Given the description of an element on the screen output the (x, y) to click on. 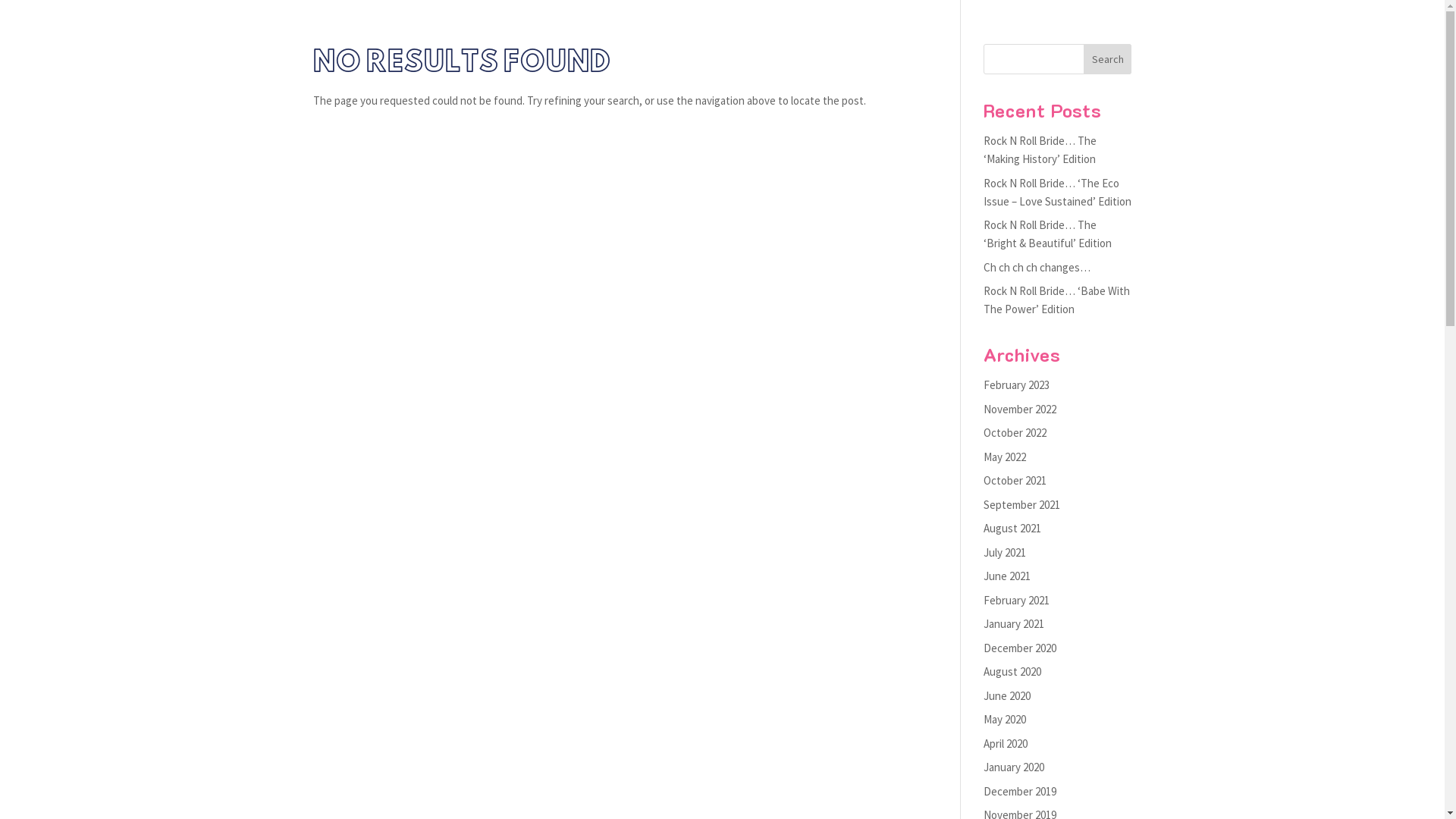
August 2021 Element type: text (1012, 527)
June 2020 Element type: text (1006, 695)
September 2021 Element type: text (1021, 504)
June 2021 Element type: text (1006, 575)
November 2022 Element type: text (1019, 408)
May 2022 Element type: text (1004, 455)
July 2021 Element type: text (1004, 551)
January 2020 Element type: text (1013, 766)
December 2019 Element type: text (1019, 791)
October 2021 Element type: text (1014, 480)
May 2020 Element type: text (1004, 719)
February 2021 Element type: text (1016, 600)
April 2020 Element type: text (1005, 742)
February 2023 Element type: text (1016, 384)
October 2022 Element type: text (1014, 432)
January 2021 Element type: text (1013, 623)
Search Element type: text (1107, 58)
August 2020 Element type: text (1012, 671)
December 2020 Element type: text (1019, 647)
